Given the description of an element on the screen output the (x, y) to click on. 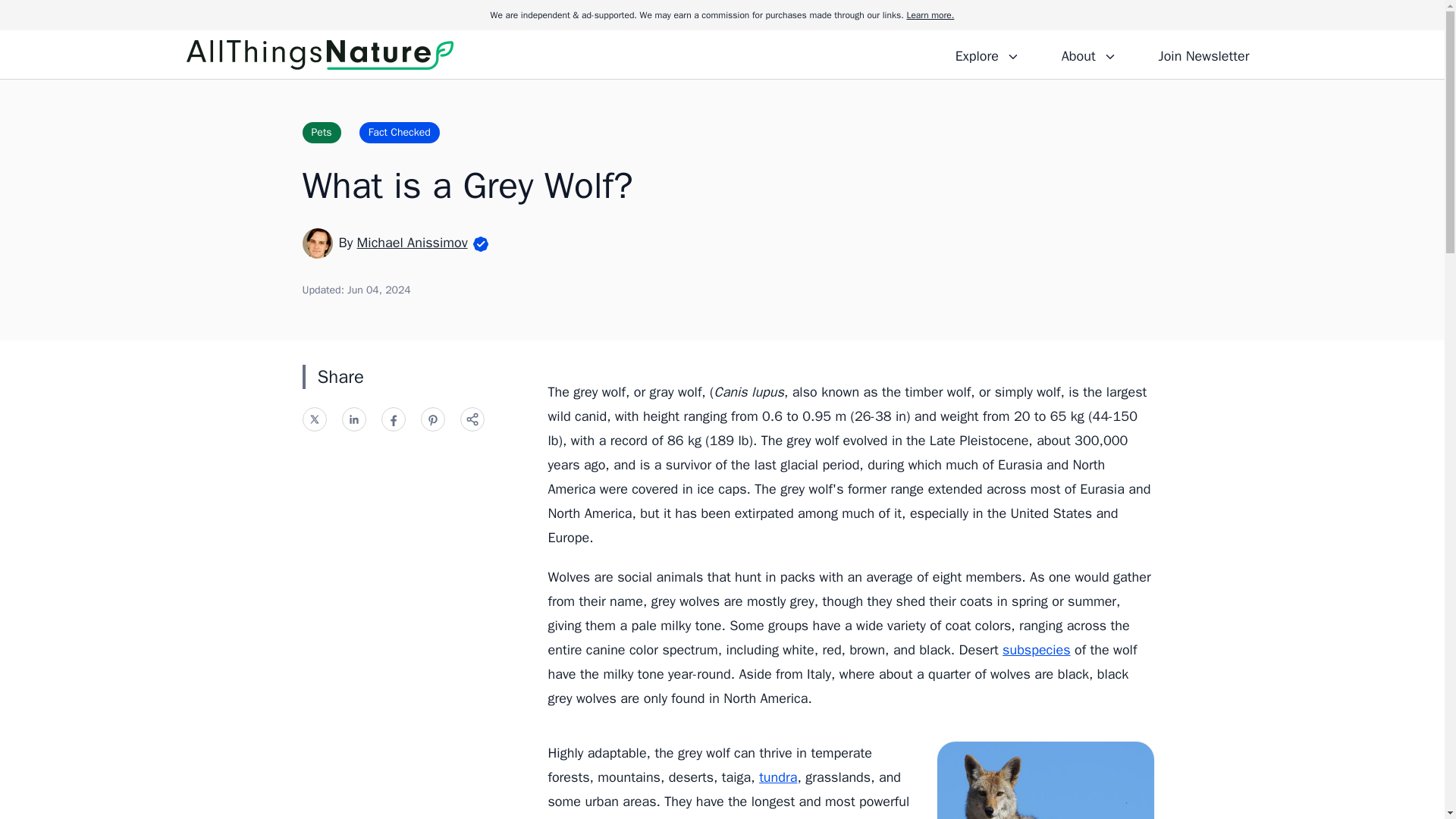
subspecies (1036, 649)
Explore (986, 54)
About (1088, 54)
Fact Checked (399, 132)
Pets (320, 132)
tundra (777, 777)
Join Newsletter (1202, 54)
Learn more. (929, 15)
Michael Anissimov (411, 242)
